Given the description of an element on the screen output the (x, y) to click on. 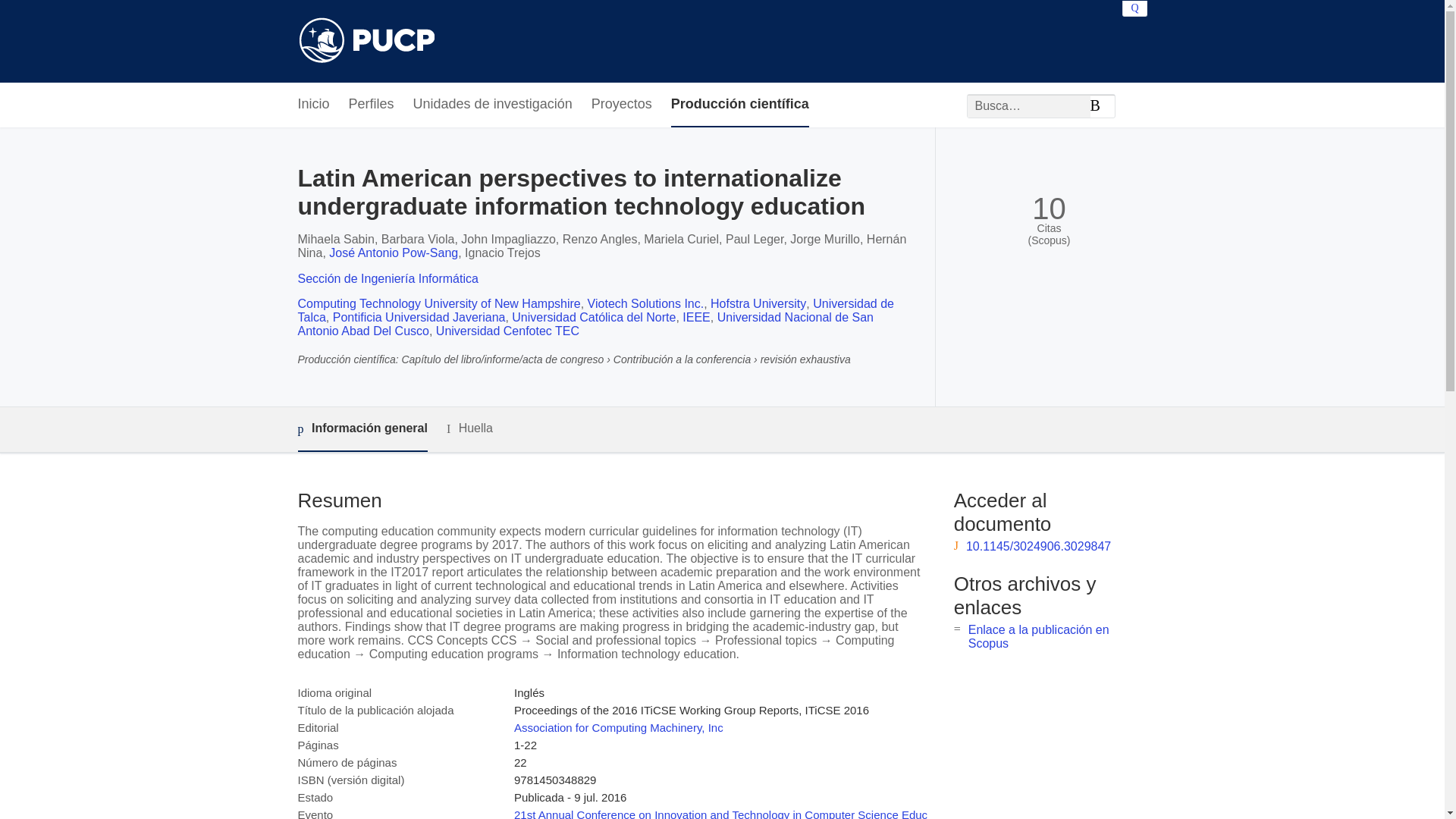
Association for Computing Machinery, Inc (618, 727)
Viotech Solutions Inc. (646, 303)
Huella (469, 428)
IEEE (696, 317)
Inicio (313, 104)
Perfiles (371, 104)
Hofstra University (758, 303)
Universidad de Talca (595, 310)
Universidad Nacional de San Antonio Abad Del Cusco (585, 324)
Proyectos (621, 104)
Computing Technology University of New Hampshire (438, 303)
Pontificia Universidad Javeriana (419, 317)
Universidad Cenfotec TEC (507, 330)
